Given the description of an element on the screen output the (x, y) to click on. 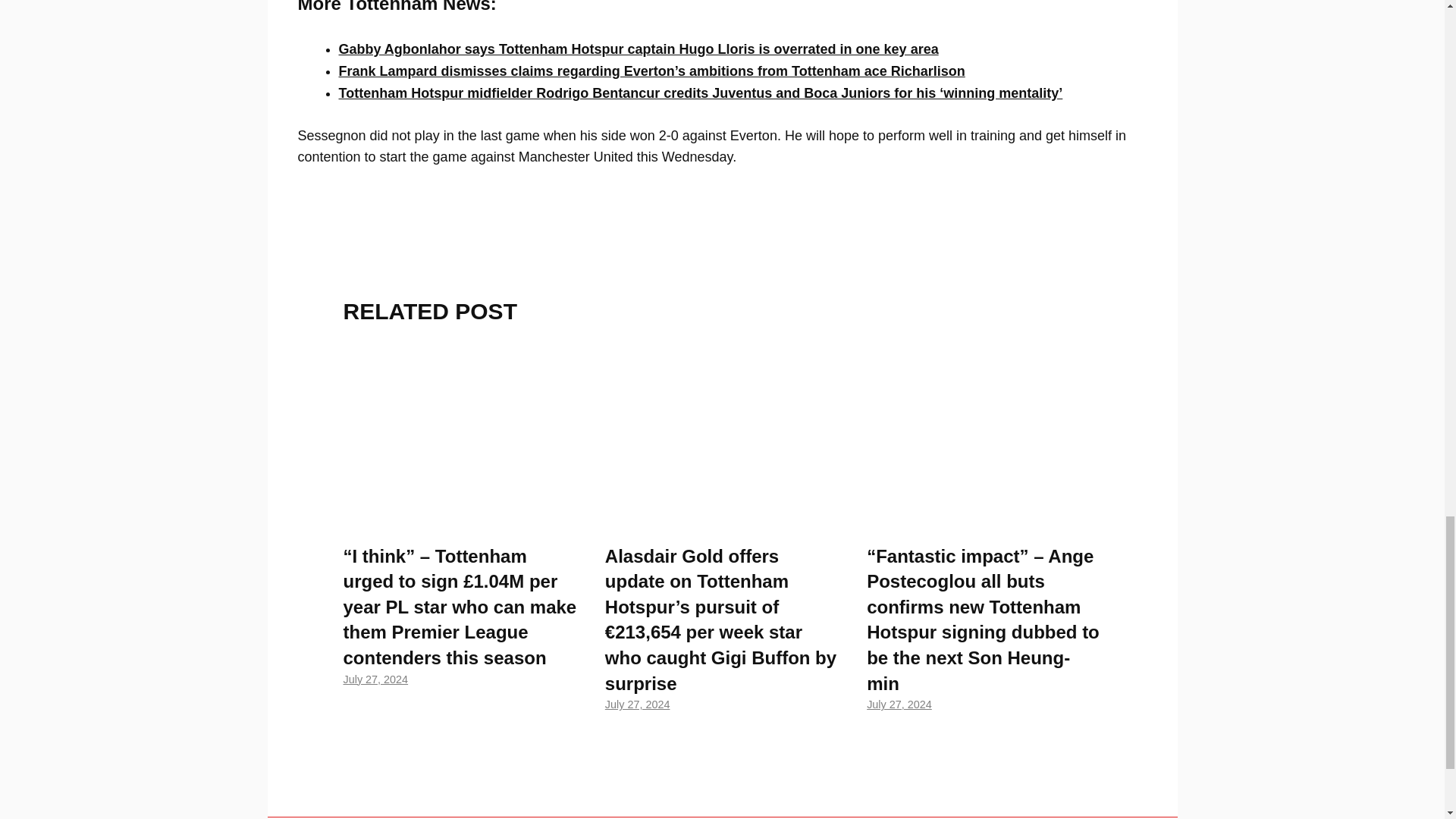
July 27, 2024 (374, 679)
4:30 pm (374, 679)
2:30 pm (898, 704)
3:30 pm (637, 704)
